Given the description of an element on the screen output the (x, y) to click on. 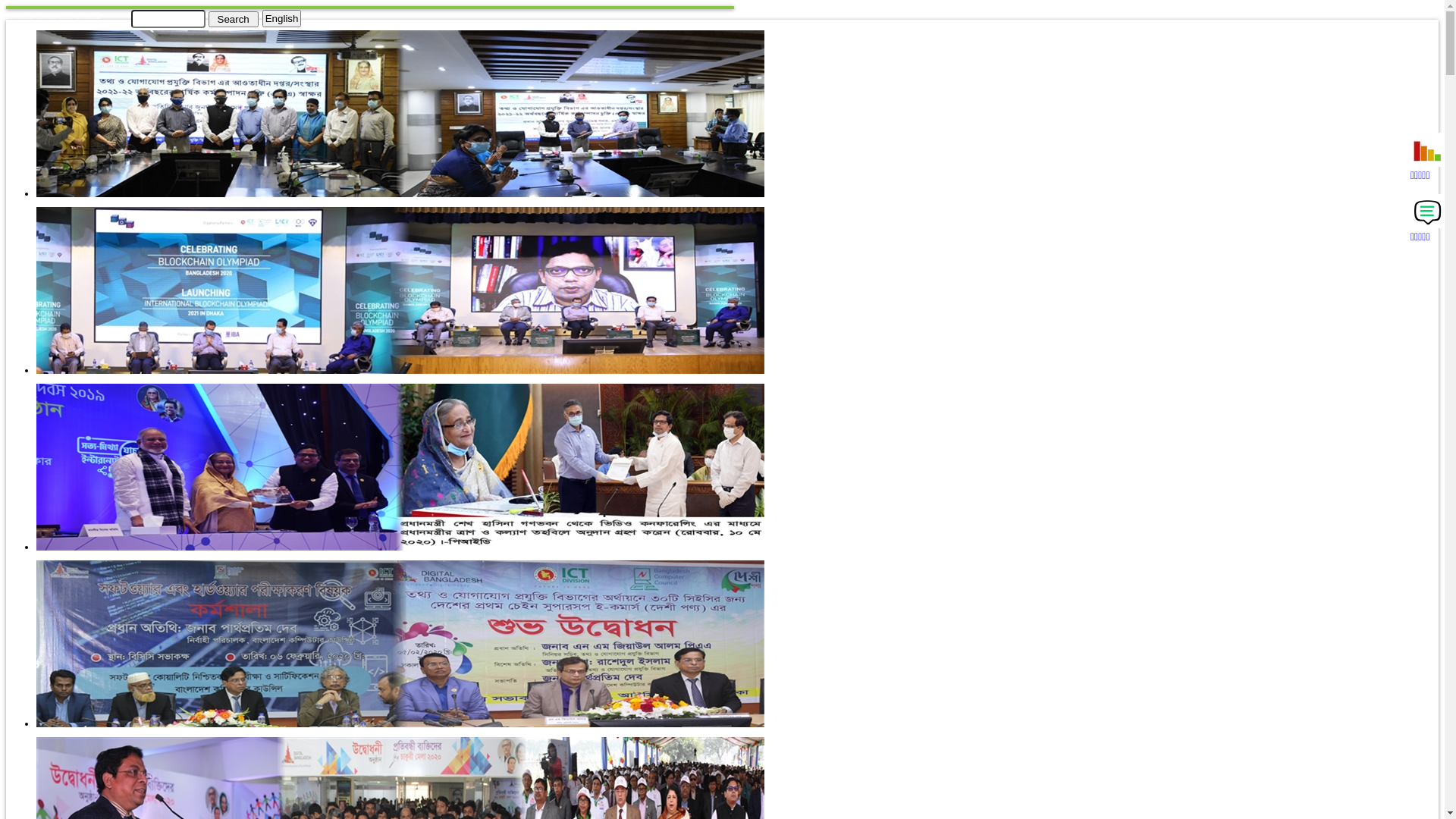
Search Element type: text (232, 18)
English Element type: text (281, 18)
